Given the description of an element on the screen output the (x, y) to click on. 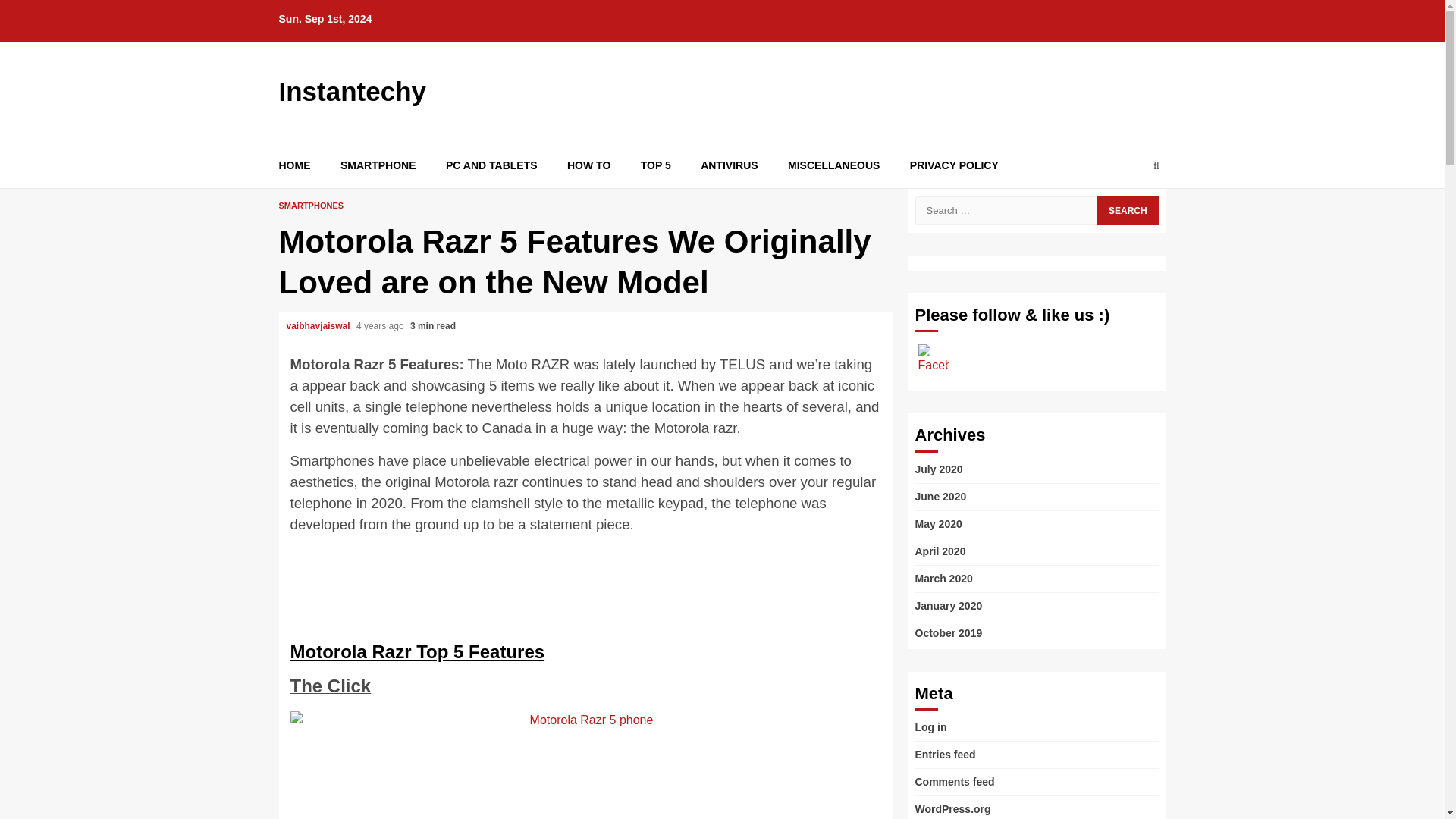
Search (1126, 211)
Search (1127, 209)
ANTIVIRUS (728, 164)
TOP 5 (655, 164)
Search (1127, 209)
Instantechy (352, 91)
SMARTPHONES (311, 205)
SMARTPHONE (378, 164)
HOW TO (588, 164)
HOME (295, 164)
